Given the description of an element on the screen output the (x, y) to click on. 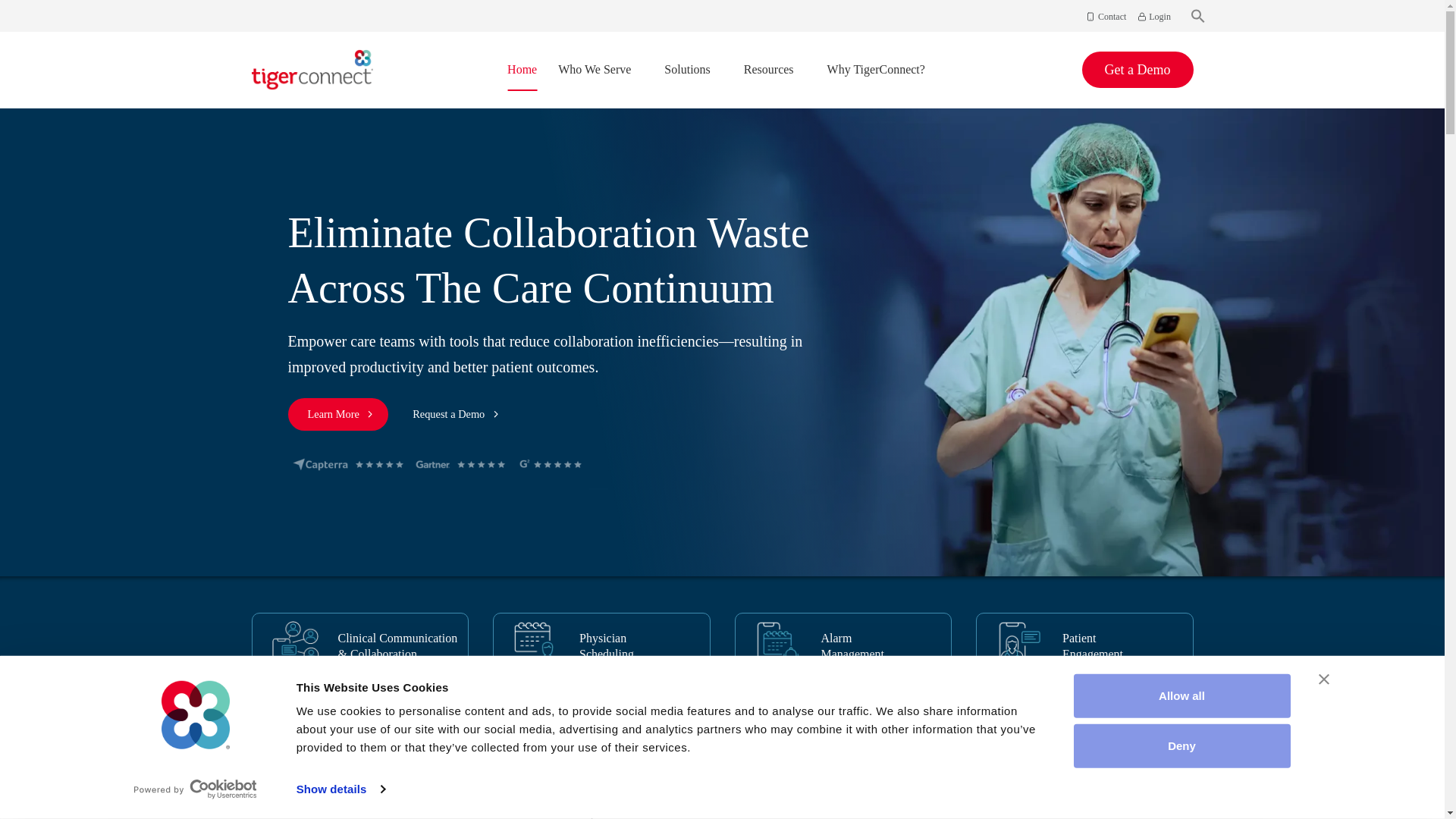
Show details (340, 789)
